Given the description of an element on the screen output the (x, y) to click on. 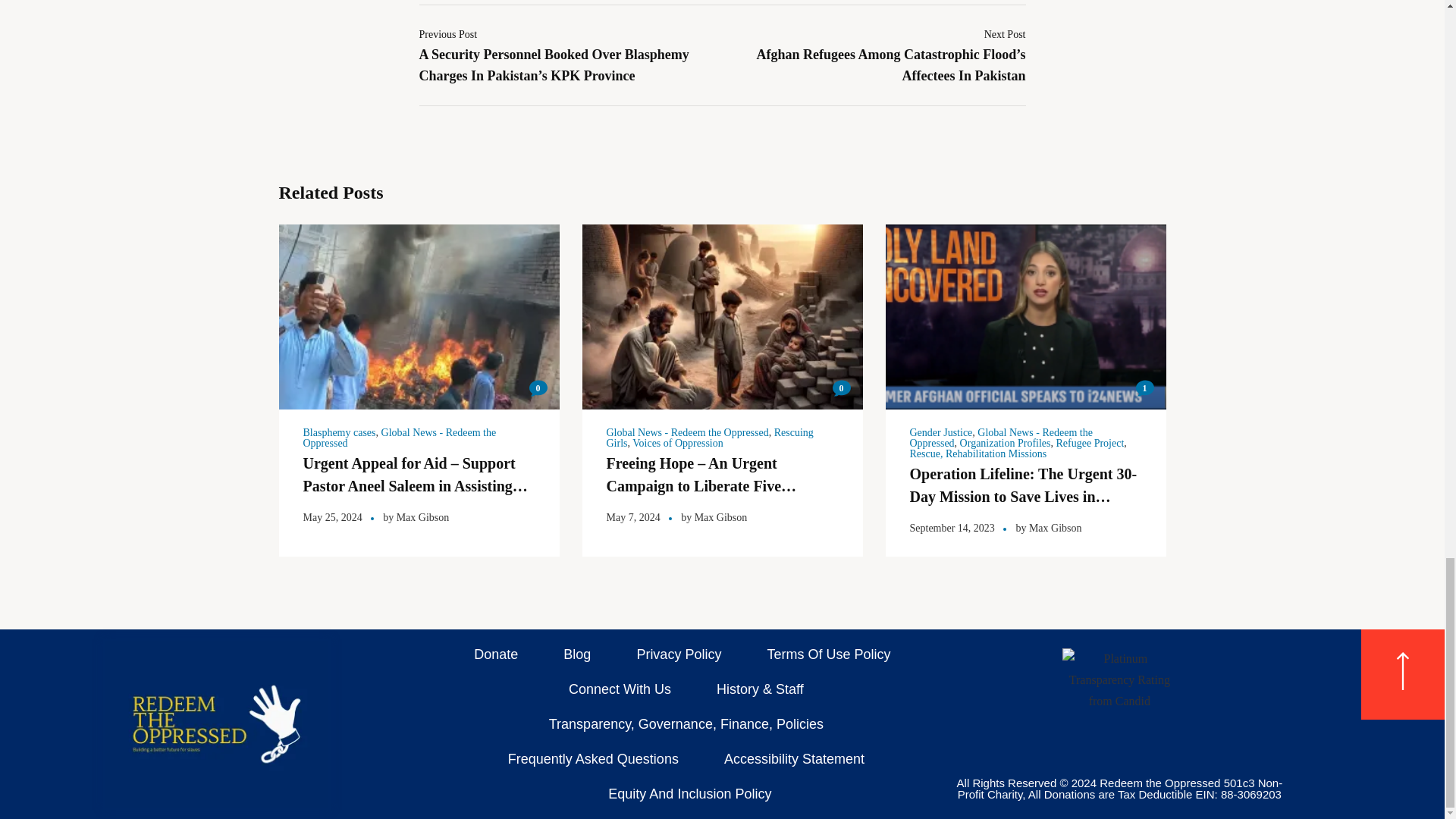
May 25, 2024 (332, 517)
Blasphemy cases (338, 432)
Global News - Redeem the Oppressed (687, 432)
Global News - Redeem the Oppressed (399, 437)
Rescuing Girls (710, 437)
0 (538, 388)
0 (841, 388)
Voices of Oppression (677, 442)
Max Gibson (422, 517)
